Given the description of an element on the screen output the (x, y) to click on. 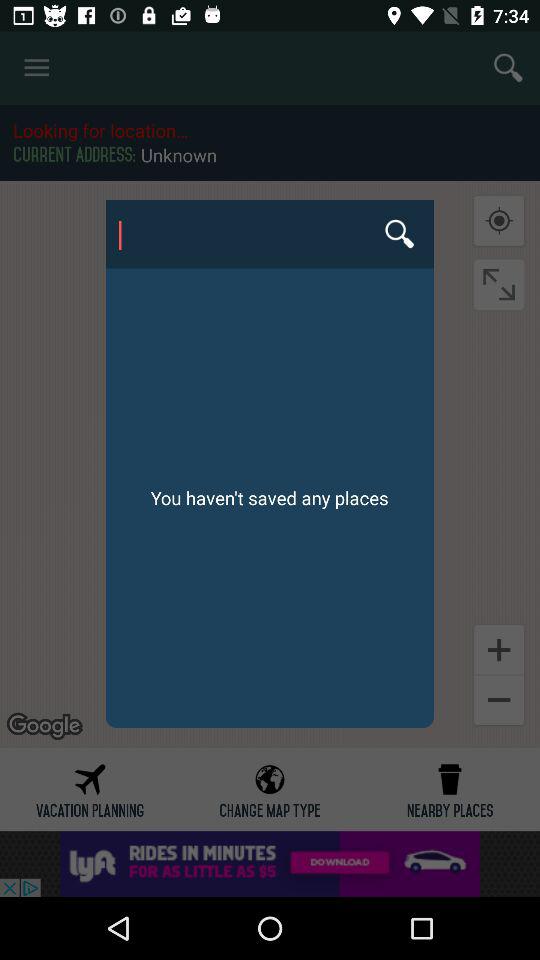
tap san
san francisco
 icon (269, 234)
